Given the description of an element on the screen output the (x, y) to click on. 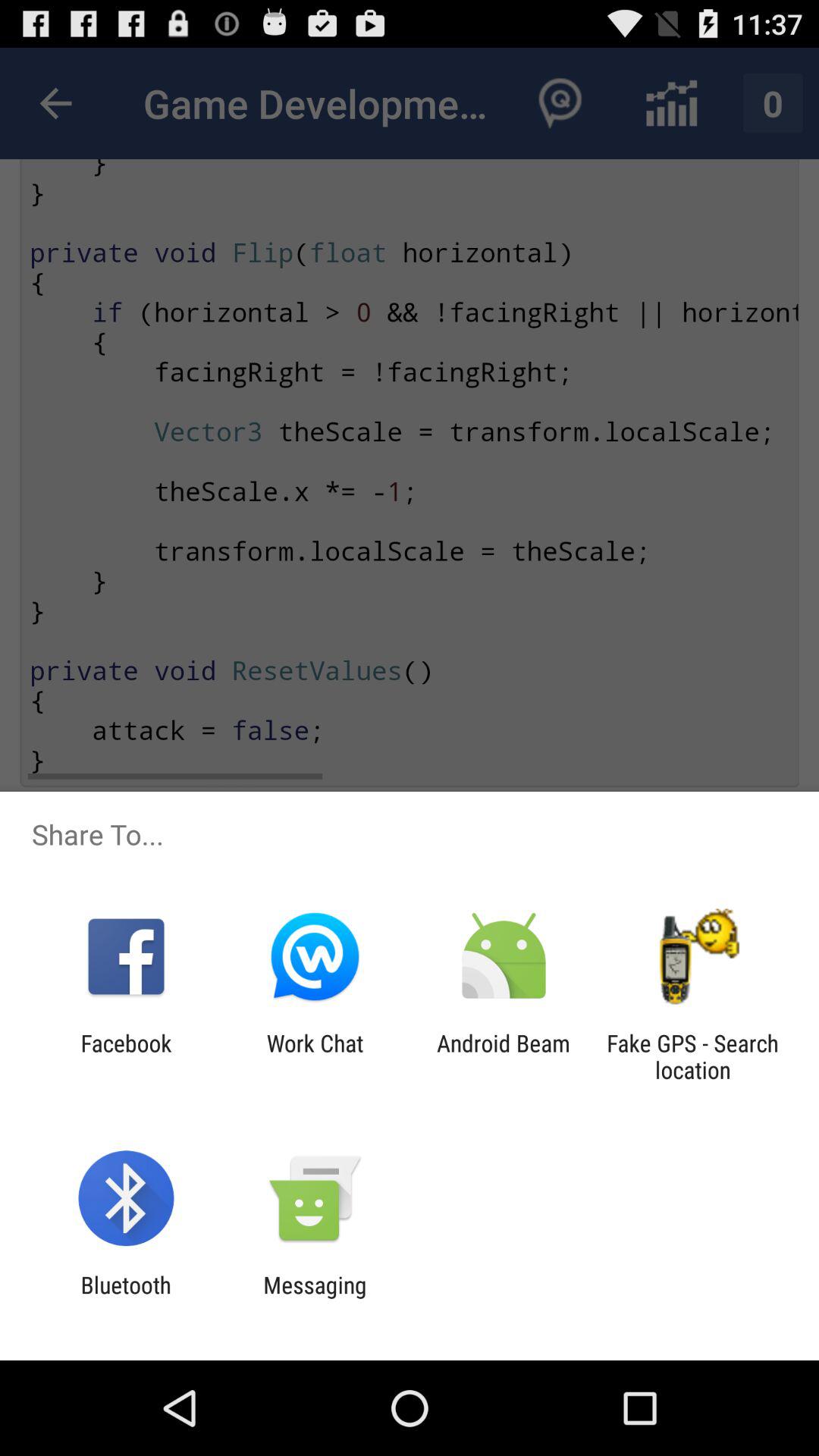
launch the app next to bluetooth app (314, 1298)
